Given the description of an element on the screen output the (x, y) to click on. 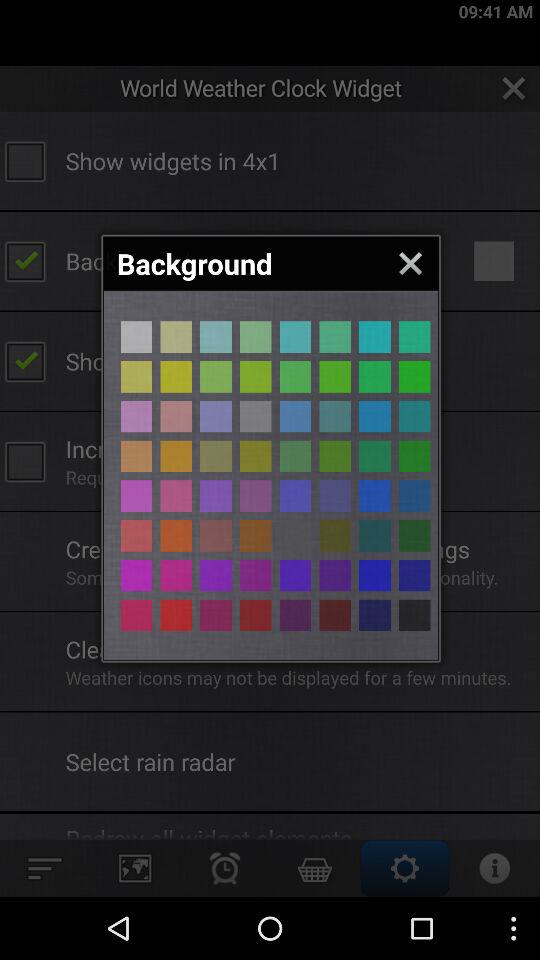
background color picker (215, 575)
